Given the description of an element on the screen output the (x, y) to click on. 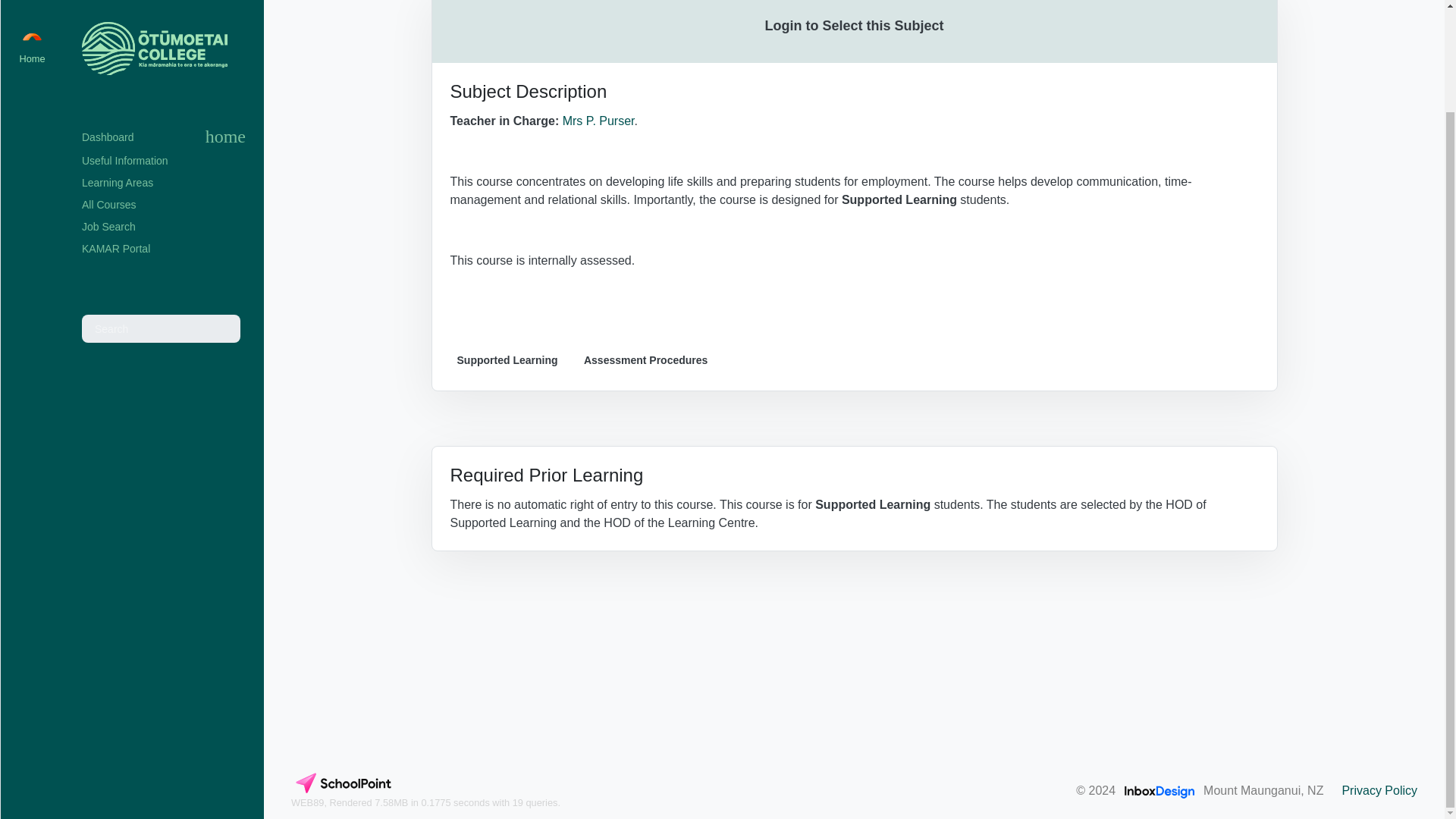
Learning Areas (163, 65)
Dashboard (114, 19)
Home (225, 18)
home (225, 18)
Job Search (163, 108)
Mrs P. Purser (598, 120)
Assessment Procedures (645, 360)
Privacy Policy (1378, 791)
KAMAR Portal (163, 130)
SchoolBridge Dashboard (114, 19)
